Given the description of an element on the screen output the (x, y) to click on. 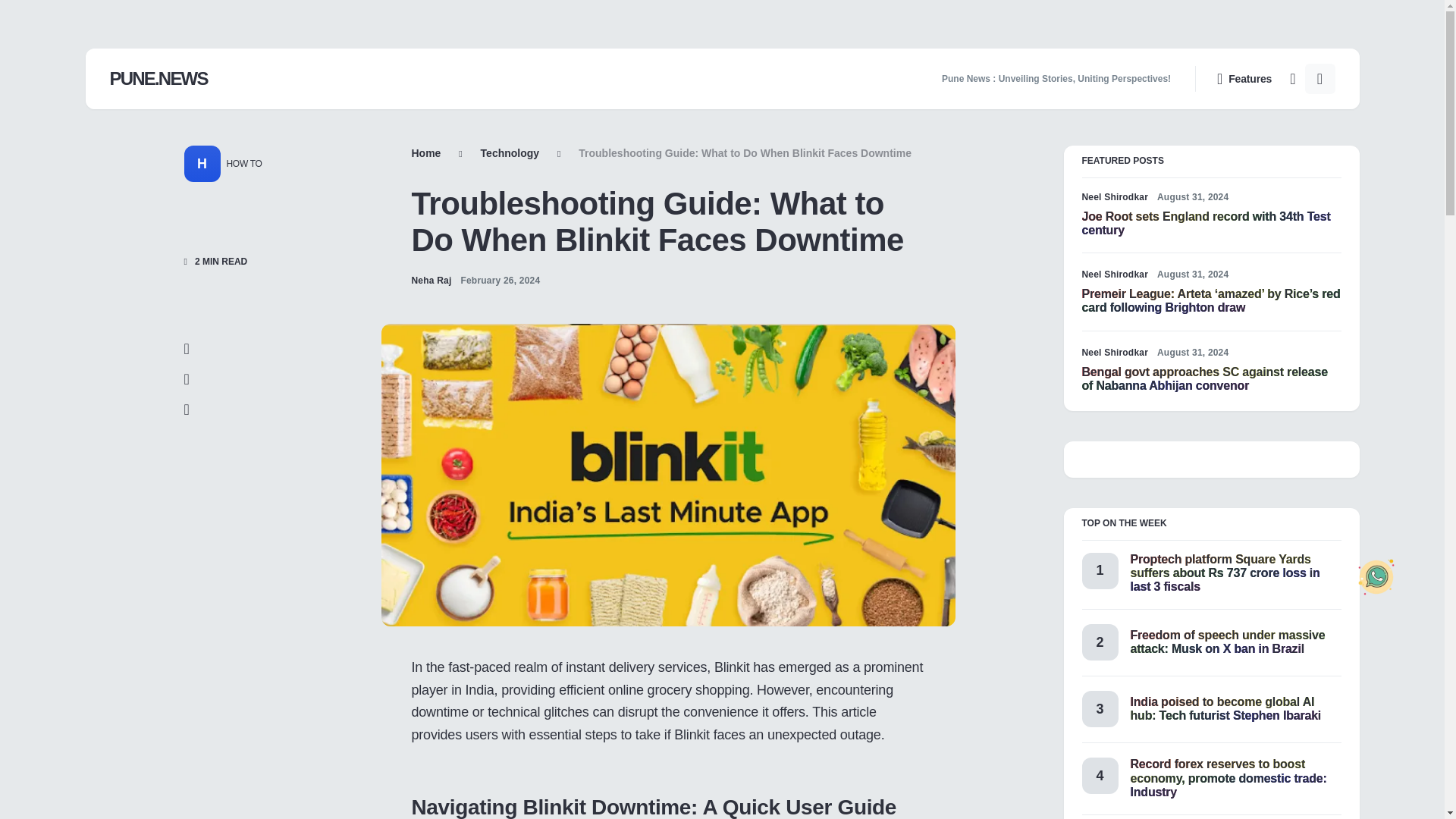
View all posts by Neel Shirodkar (1114, 274)
View all posts by Neel Shirodkar (1114, 352)
Technology (510, 152)
HOW TO (240, 163)
View all posts by Neel Shirodkar (1114, 196)
Neel Shirodkar (1114, 196)
H (201, 163)
Joe Root sets England record with 34th Test century (1205, 222)
Neel Shirodkar (1114, 274)
Neha Raj (430, 280)
